Given the description of an element on the screen output the (x, y) to click on. 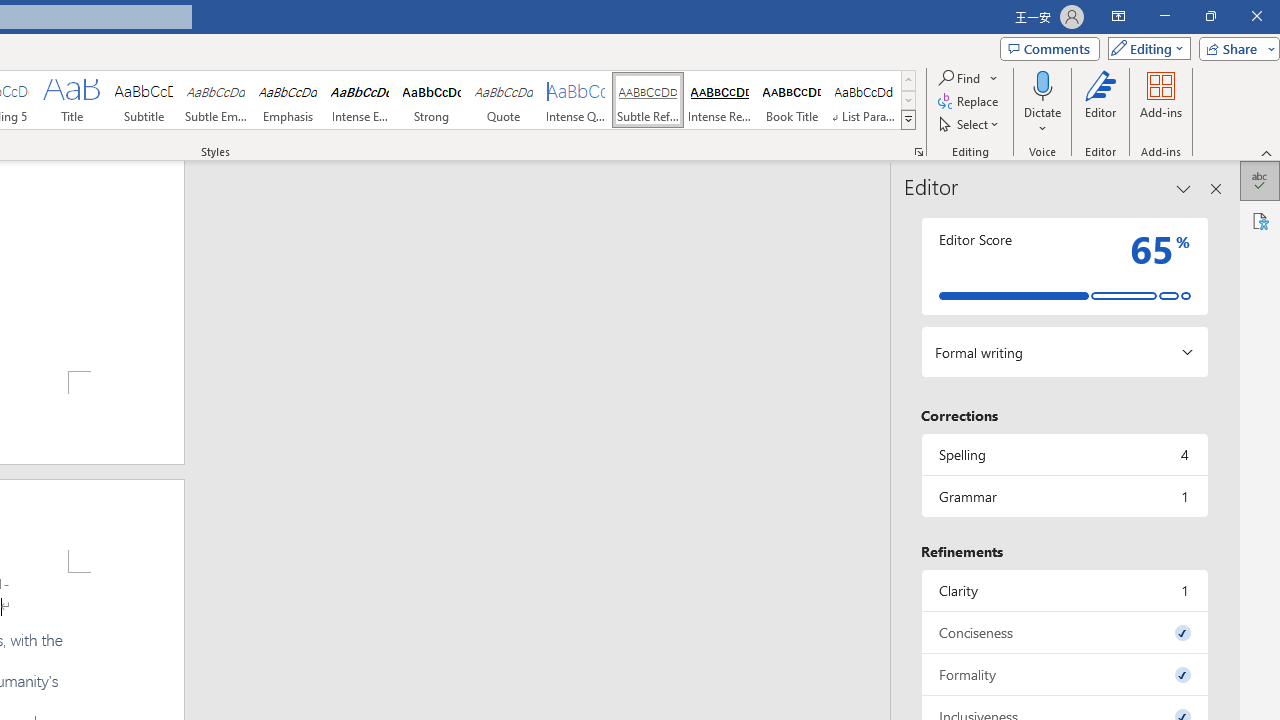
Emphasis (287, 100)
Spelling, 4 issues. Press space or enter to review items. (1064, 454)
Intense Quote (575, 100)
Formality, 0 issues. Press space or enter to review items. (1064, 673)
Subtle Emphasis (216, 100)
Editing (1144, 47)
Intense Reference (719, 100)
Clarity, 1 issue. Press space or enter to review items. (1064, 590)
